Given the description of an element on the screen output the (x, y) to click on. 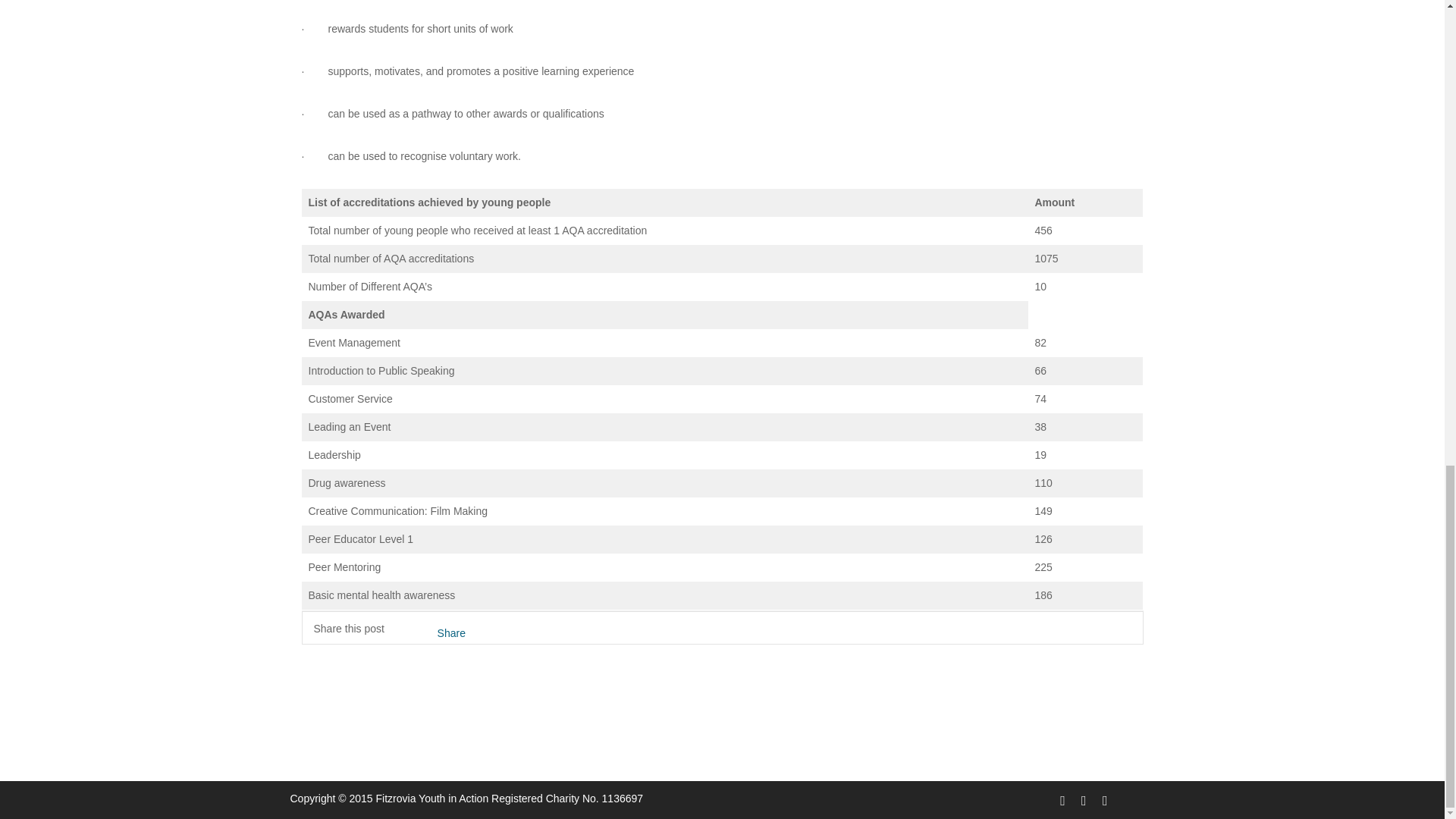
Facebook (1060, 799)
Twitter (1081, 799)
Youtube (1103, 799)
